Given the description of an element on the screen output the (x, y) to click on. 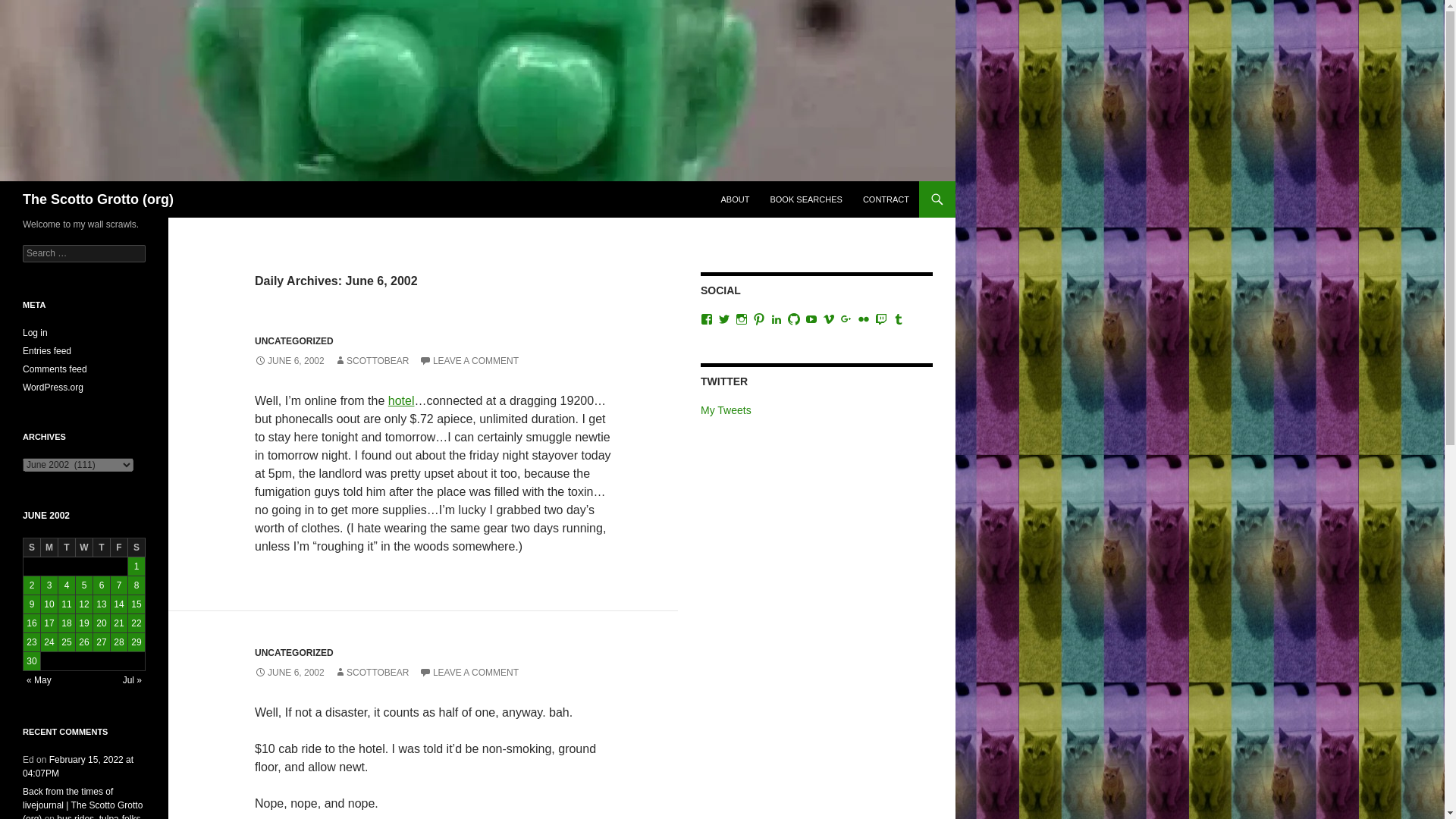
Tuesday (66, 547)
hotel (401, 400)
Sunday (31, 547)
1 (136, 566)
CONTRACT (885, 198)
Search (30, 8)
UNCATEGORIZED (293, 652)
JUNE 6, 2002 (289, 360)
Wednesday (84, 547)
UNCATEGORIZED (293, 340)
2 (31, 585)
WordPress.org (52, 387)
SCOTTOBEAR (371, 672)
SCOTTOBEAR (371, 360)
